Given the description of an element on the screen output the (x, y) to click on. 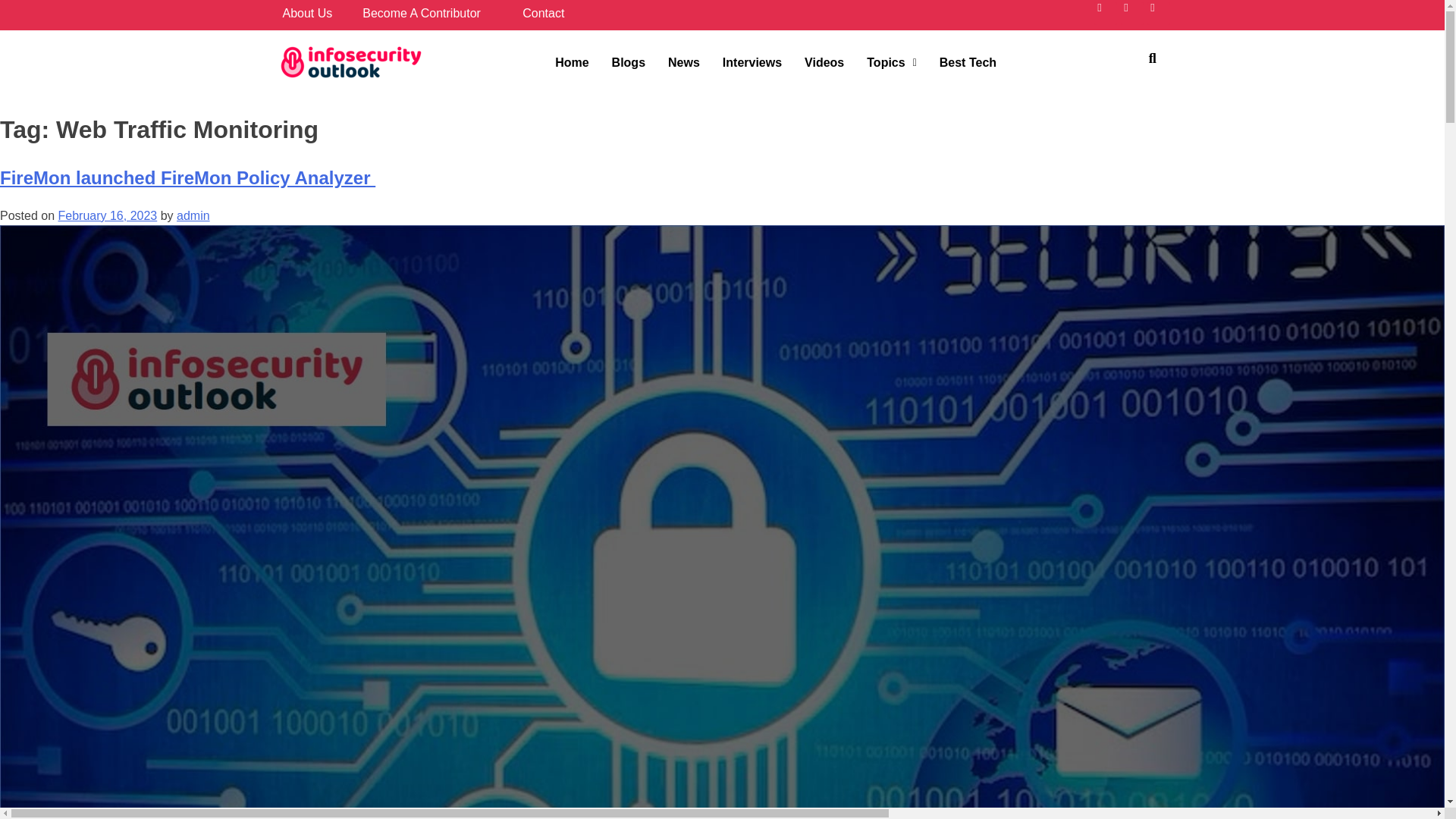
Topics (892, 62)
Videos (824, 62)
Contact (543, 12)
admin (192, 215)
Interviews (752, 62)
Blogs (627, 62)
Home (571, 62)
Become A Contributor (421, 12)
February 16, 2023 (107, 215)
FireMon launched FireMon Policy Analyzer  (187, 177)
News (683, 62)
About Us (306, 12)
Best Tech (967, 62)
